Given the description of an element on the screen output the (x, y) to click on. 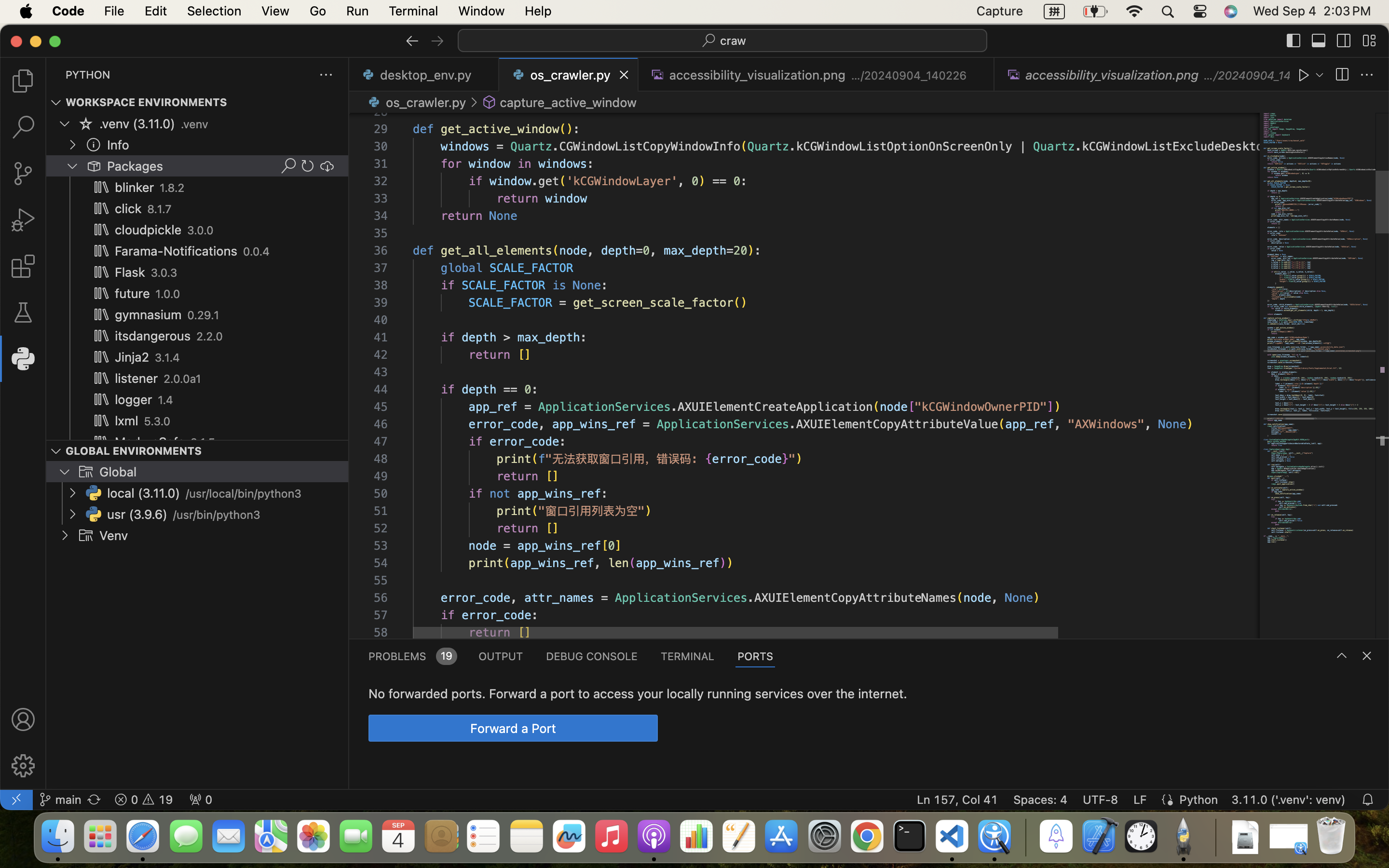
.venv (3.11.0) Element type: AXStaticText (137, 123)
 Element type: AXStaticText (22, 765)
5.3.0 Element type: AXStaticText (156, 421)
lxml Element type: AXStaticText (126, 420)
 0 Element type: AXButton (200, 799)
